Given the description of an element on the screen output the (x, y) to click on. 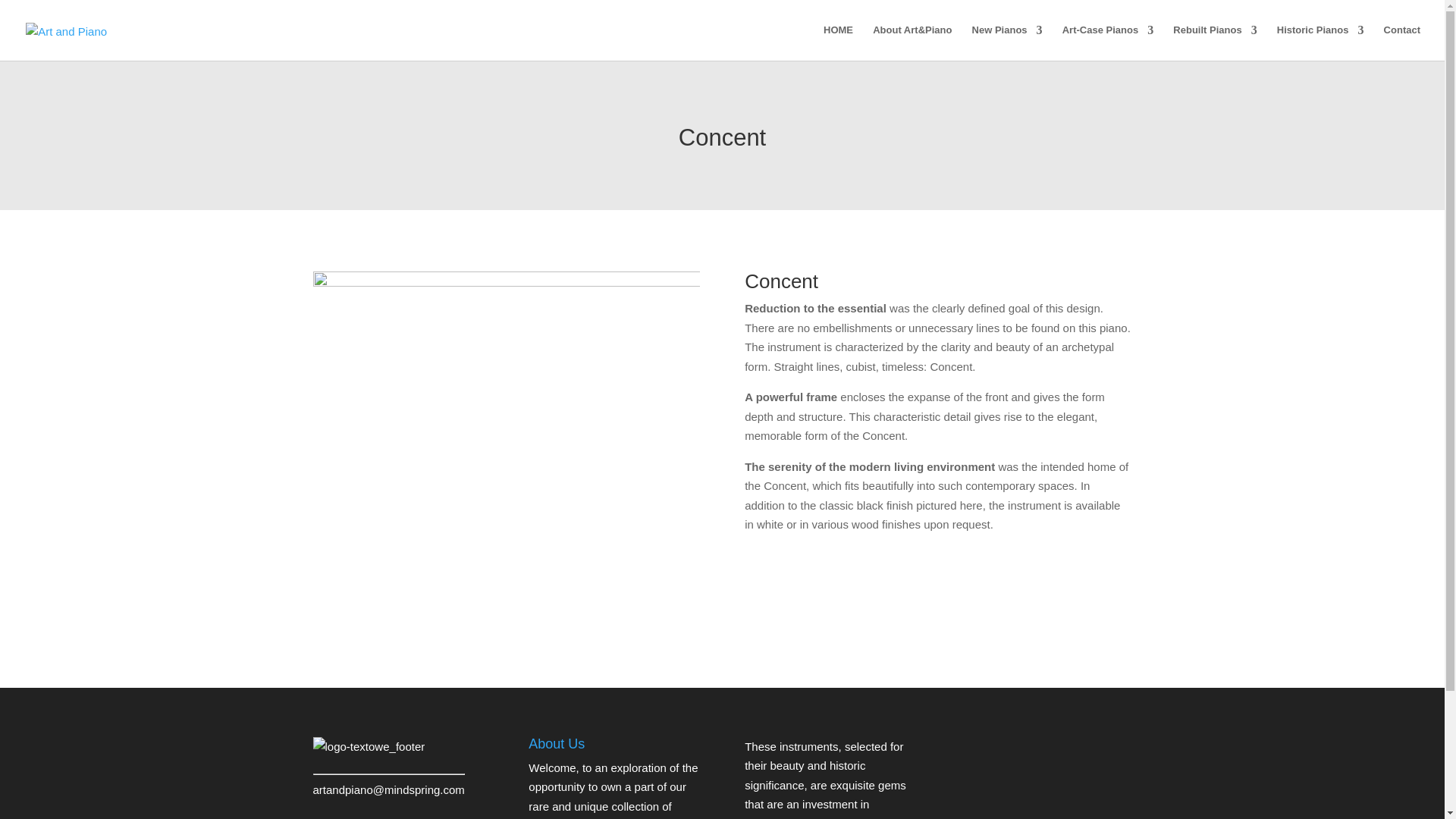
Concent-1a (505, 427)
Rebuilt Pianos (1214, 42)
Contact (1402, 42)
Historic Pianos (1320, 42)
HOME (838, 42)
New Pianos (1007, 42)
Art-Case Pianos (1107, 42)
